Given the description of an element on the screen output the (x, y) to click on. 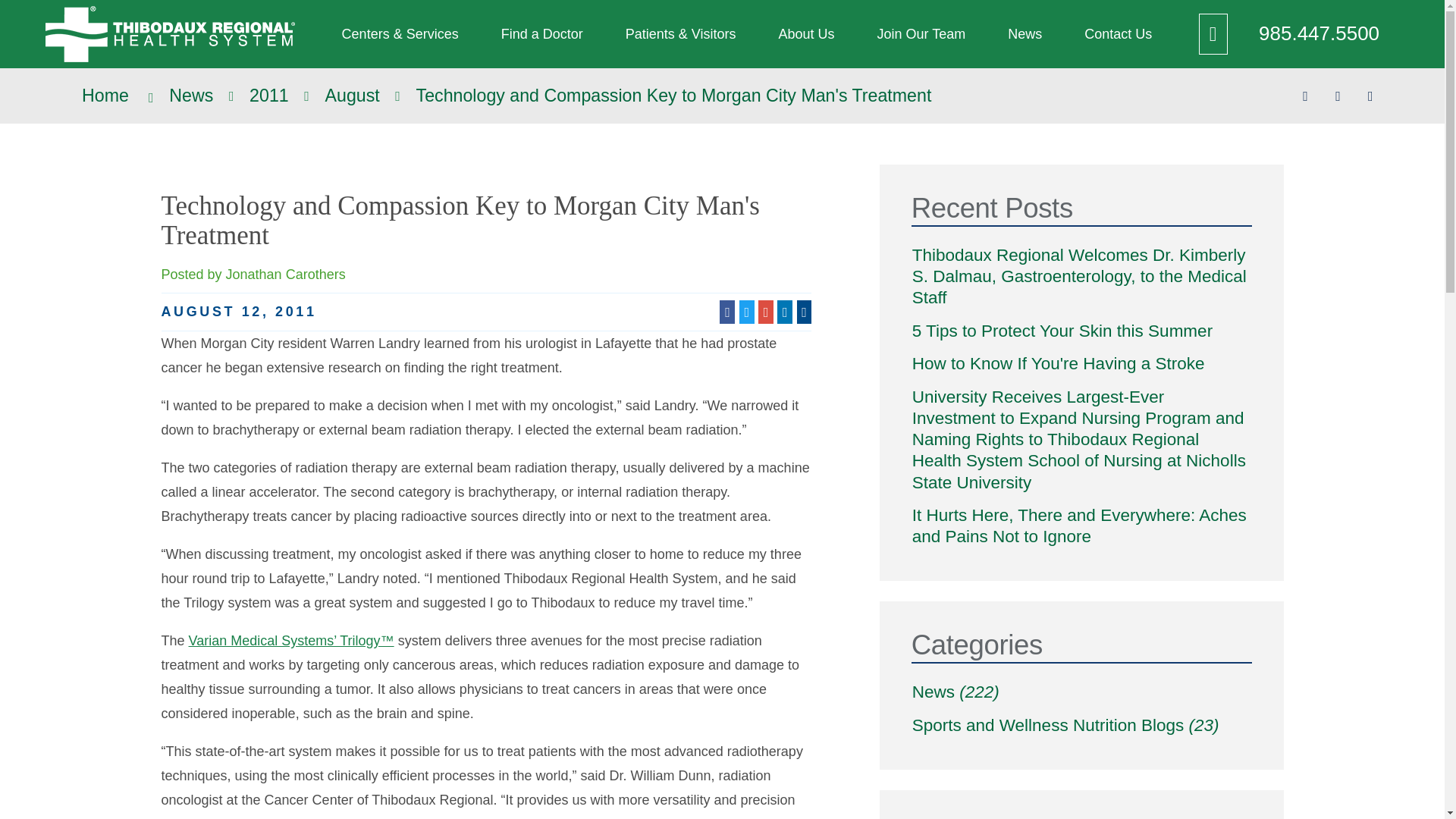
Join Our Team (921, 33)
News (1024, 33)
Printer-Friendly Page (1370, 96)
Contact Us (1117, 33)
Thibodaux Regional Health System (170, 33)
Refer a Friend (1337, 96)
Find a Doctor (542, 33)
About Us (806, 33)
